Given the description of an element on the screen output the (x, y) to click on. 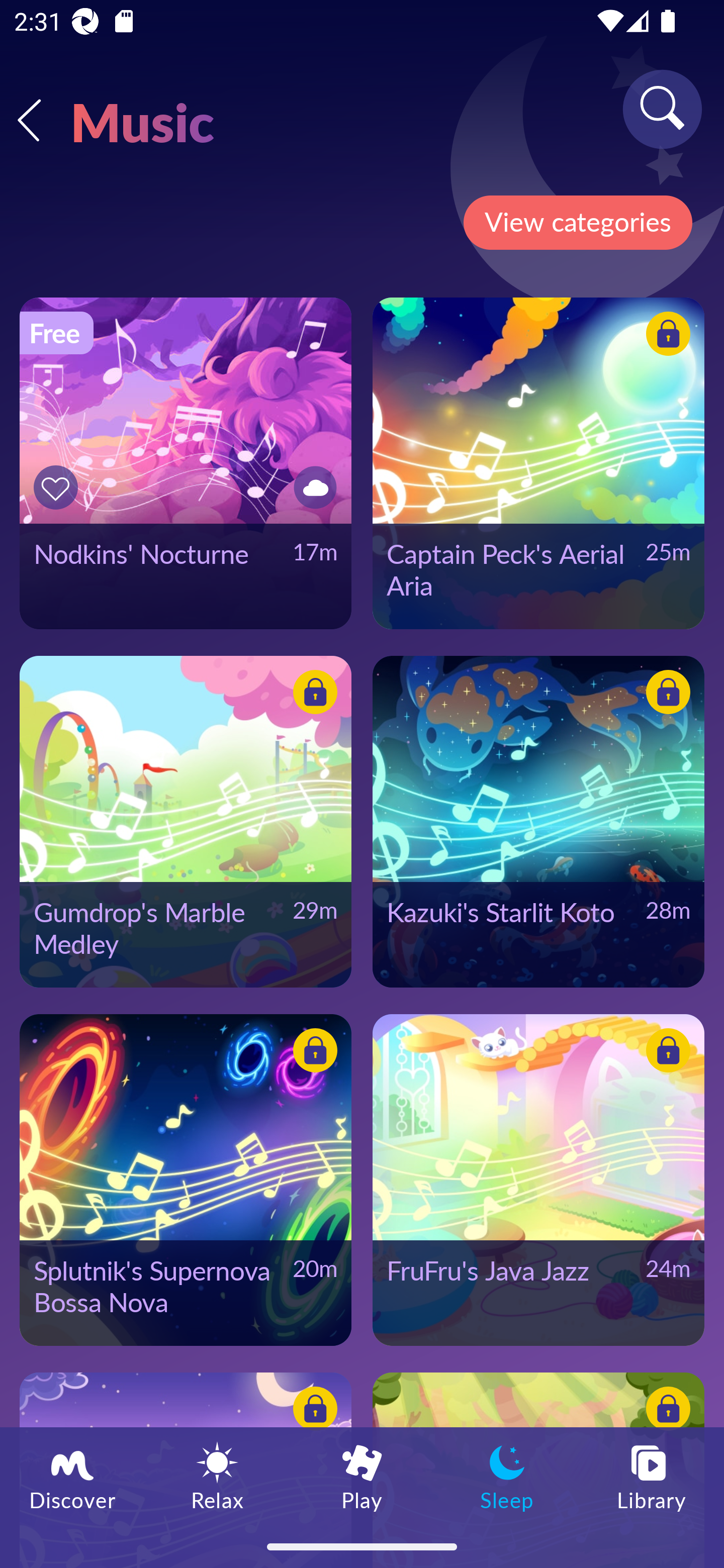
View categories (577, 222)
Button (665, 336)
Button (58, 487)
Button (311, 487)
Button (311, 694)
Featured Content Button Kazuki's Starlit Koto 28m (538, 821)
Button (665, 694)
Button (311, 1053)
Featured Content Button FruFru's Java Jazz 24m (538, 1179)
Button (665, 1053)
Button (311, 1411)
Button (665, 1411)
Discover (72, 1475)
Relax (216, 1475)
Play (361, 1475)
Library (651, 1475)
